Given the description of an element on the screen output the (x, y) to click on. 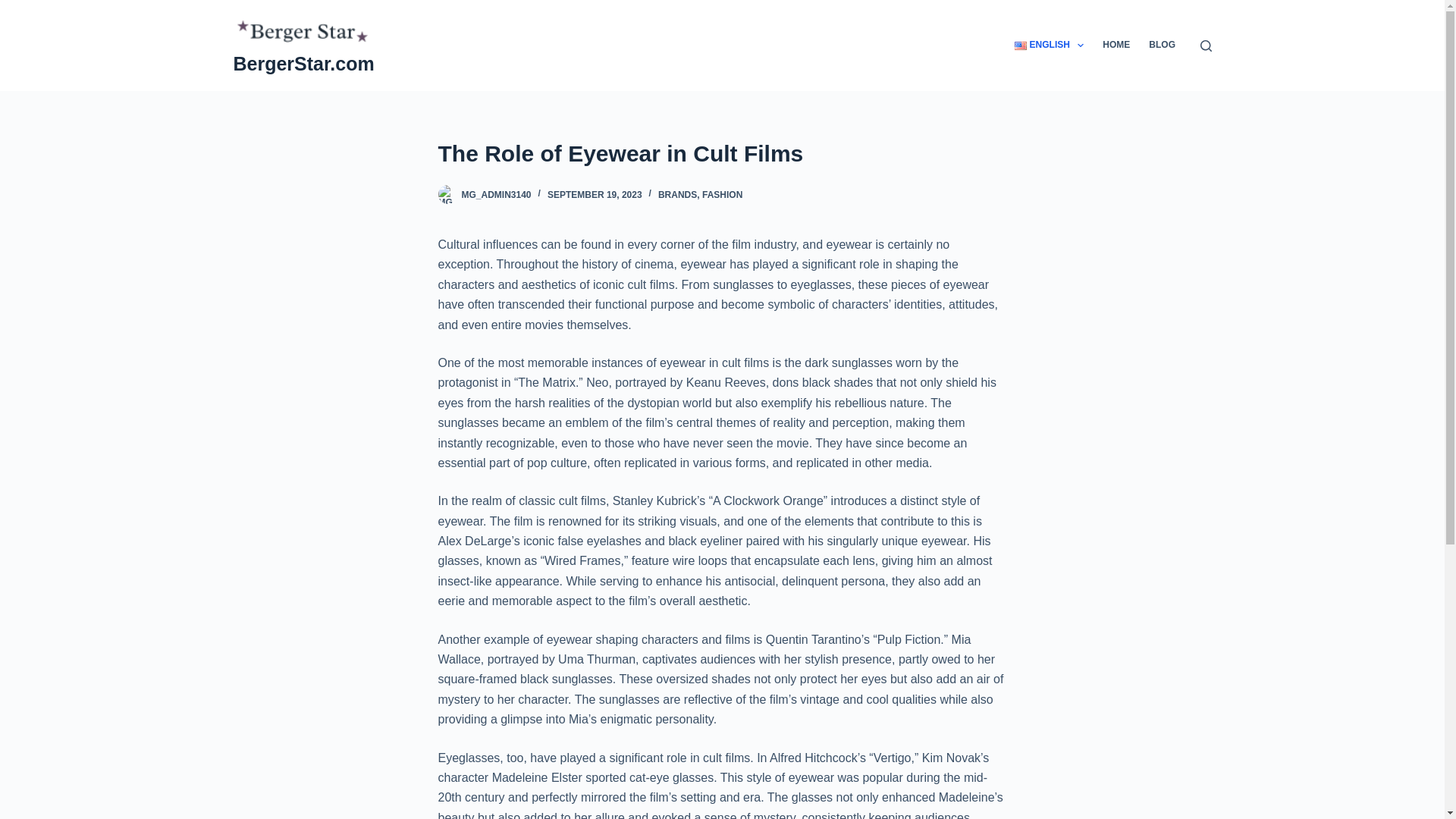
BRANDS (677, 194)
Skip to content (15, 7)
The Role of Eyewear in Cult Films (722, 153)
BergerStar.com (303, 63)
ENGLISH (1049, 45)
FASHION (721, 194)
